Given the description of an element on the screen output the (x, y) to click on. 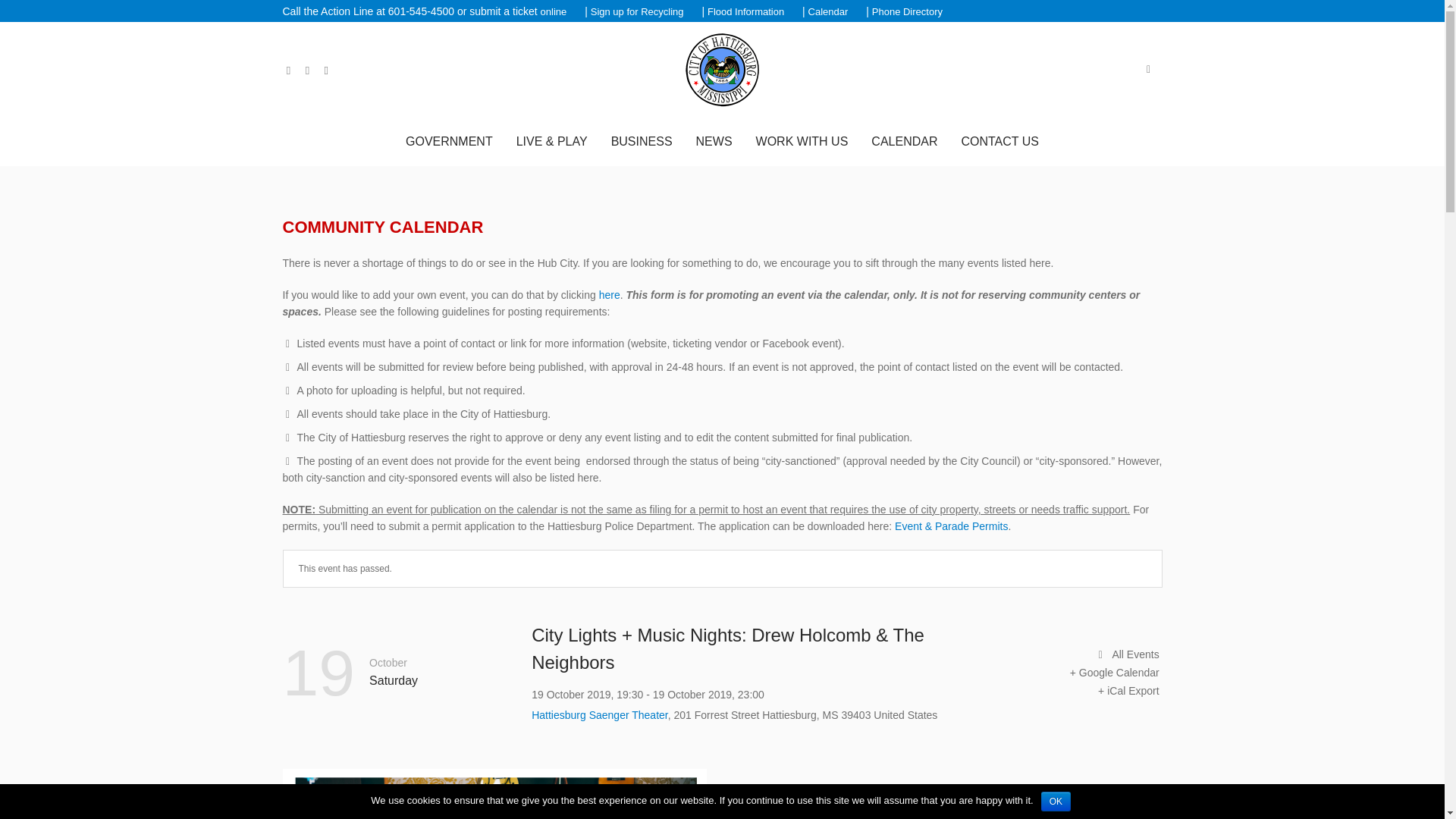
YouTube (325, 70)
Phone Directory (907, 11)
Twitter (307, 70)
Flood Information (745, 11)
Facebook (288, 70)
Mississippi (830, 714)
Calendar (828, 11)
GOVERNMENT (448, 141)
Download .ics file (1127, 690)
Sign up for Recycling (637, 11)
Add to Google Calendar (1114, 672)
online (553, 11)
Hattiesburg Saenger Theater (599, 715)
